Given the description of an element on the screen output the (x, y) to click on. 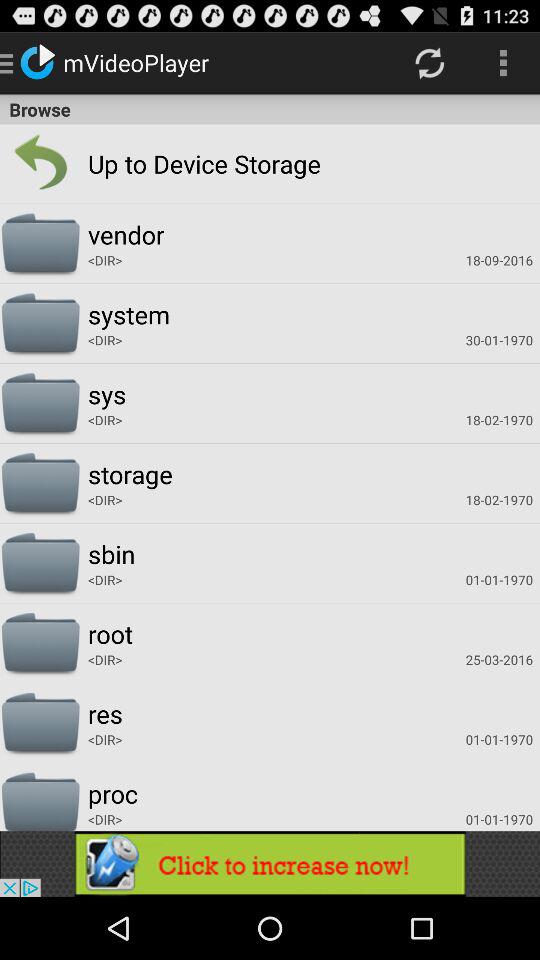
open the item below the browse (40, 163)
